Given the description of an element on the screen output the (x, y) to click on. 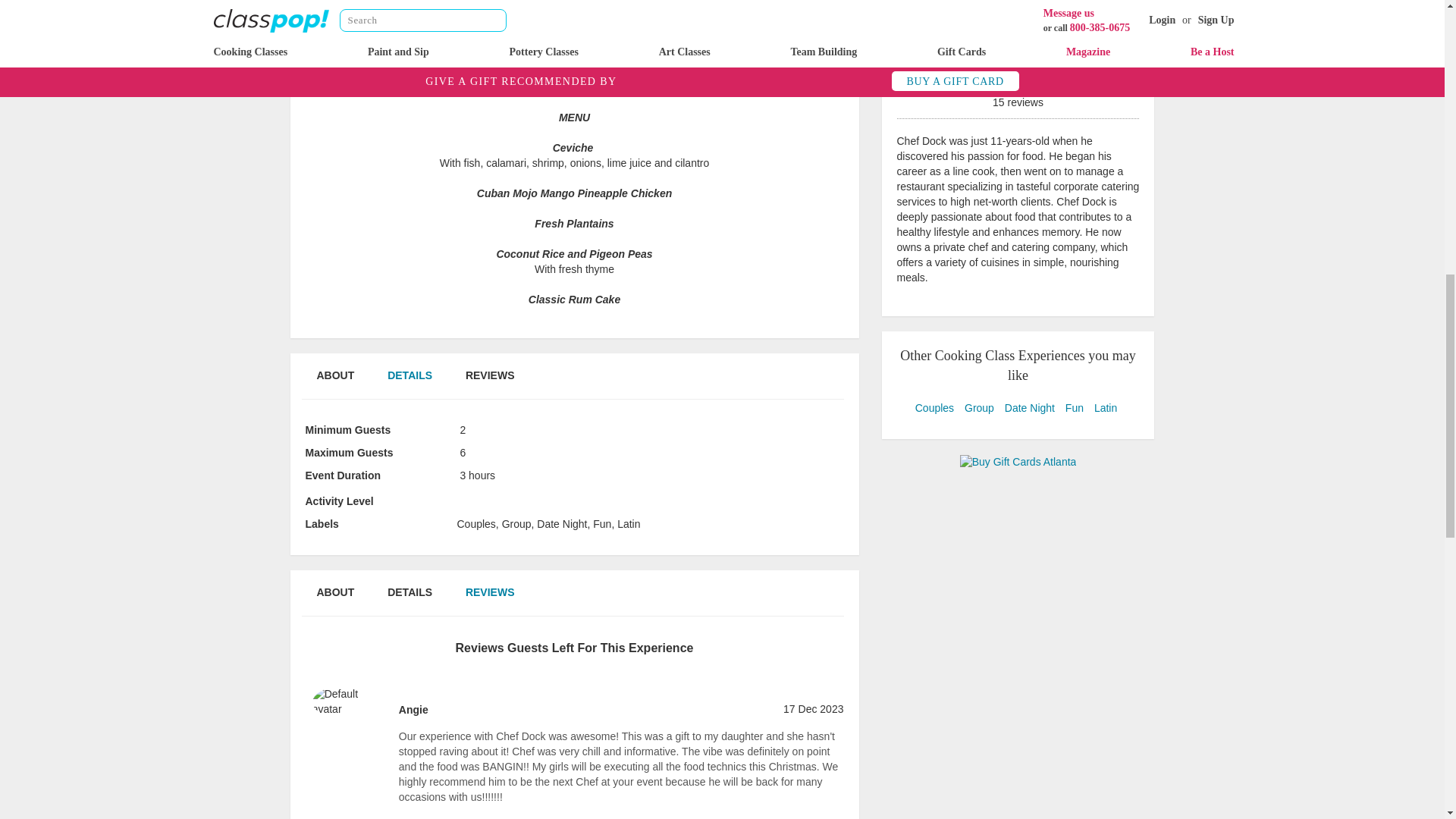
ABOUT (334, 383)
DETAILS (409, 383)
ABOUT (334, 600)
DETAILS (409, 600)
REVIEWS (489, 600)
15 reviews (1017, 97)
A mix of chef demonstration and hands-on cooking (499, 502)
REVIEWS (489, 383)
